Given the description of an element on the screen output the (x, y) to click on. 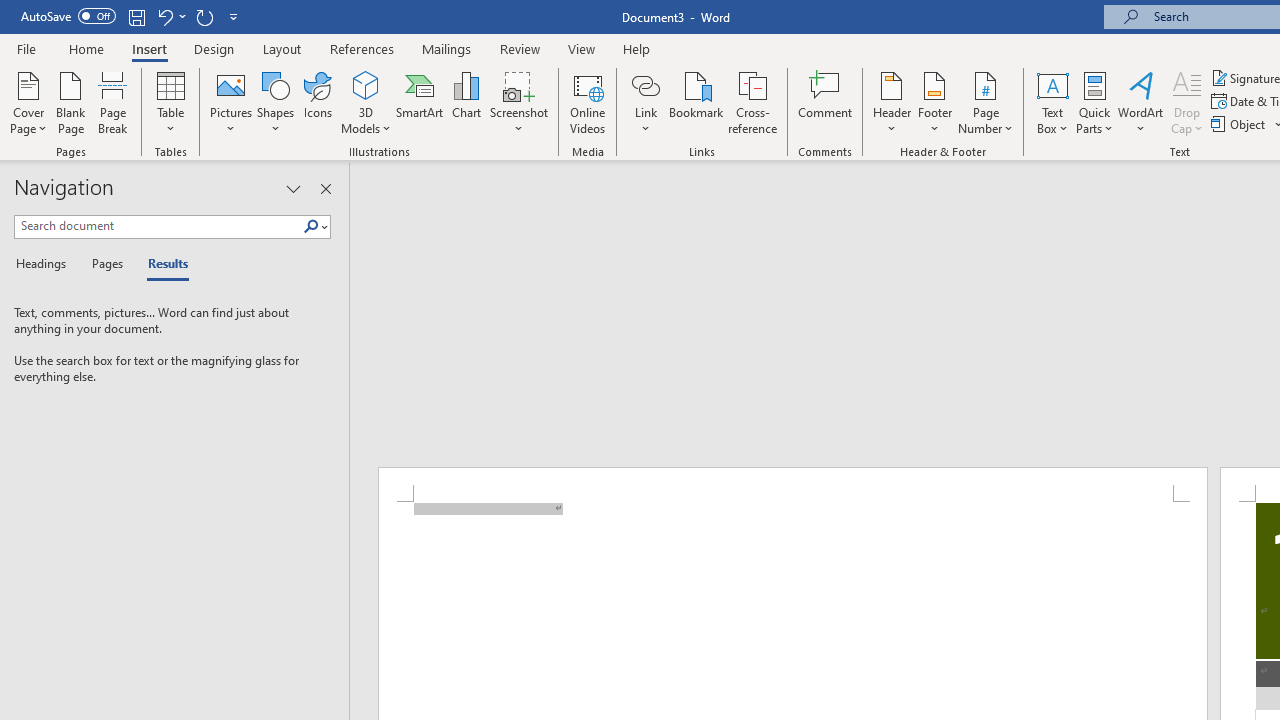
Page Break (113, 102)
WordArt (1141, 102)
Comment (825, 102)
Icons (317, 102)
Undo New Page (170, 15)
Screenshot (518, 102)
Page Number (986, 102)
Undo New Page (164, 15)
Blank Page (70, 102)
